Given the description of an element on the screen output the (x, y) to click on. 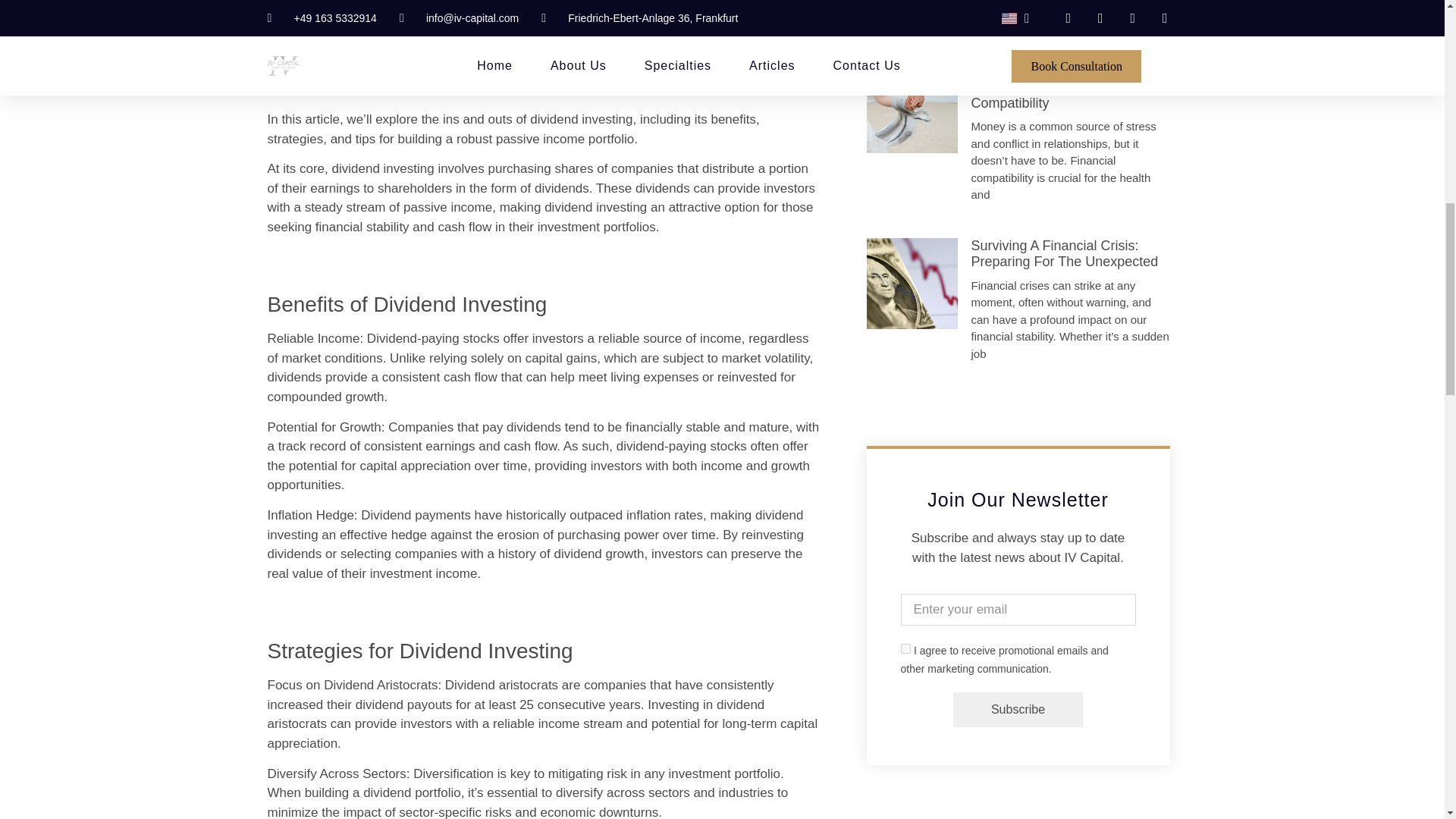
on (906, 648)
